Given the description of an element on the screen output the (x, y) to click on. 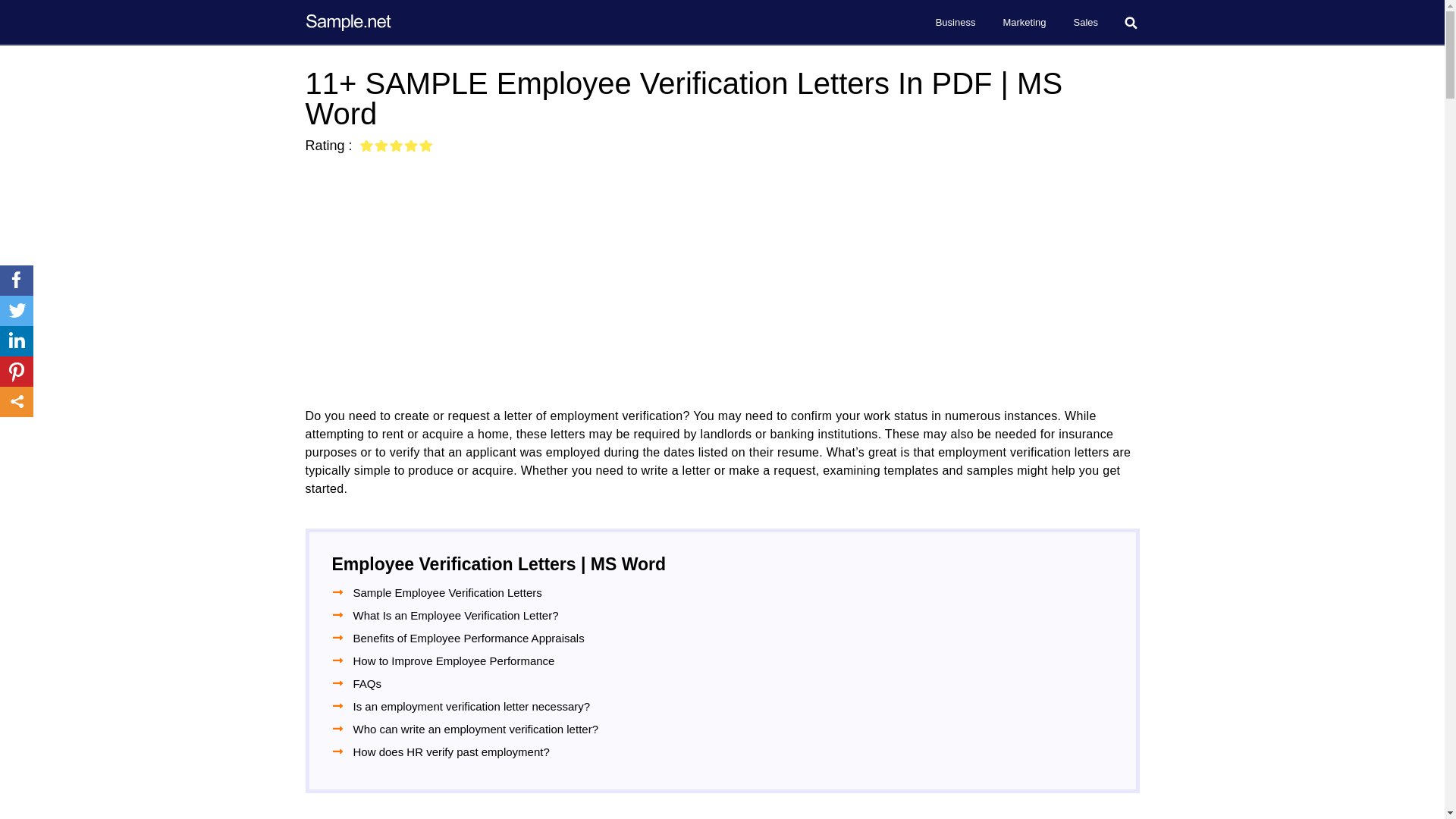
Benefits of Employee Performance Appraisals (469, 637)
Is an employment verification letter necessary? (472, 705)
How to Improve Employee Performance (453, 660)
What Is an Employee Verification Letter? (456, 615)
How does HR verify past employment? (451, 751)
FAQs (367, 683)
Who can write an employment verification letter? (475, 728)
Business (955, 22)
Marketing (1023, 22)
